Given the description of an element on the screen output the (x, y) to click on. 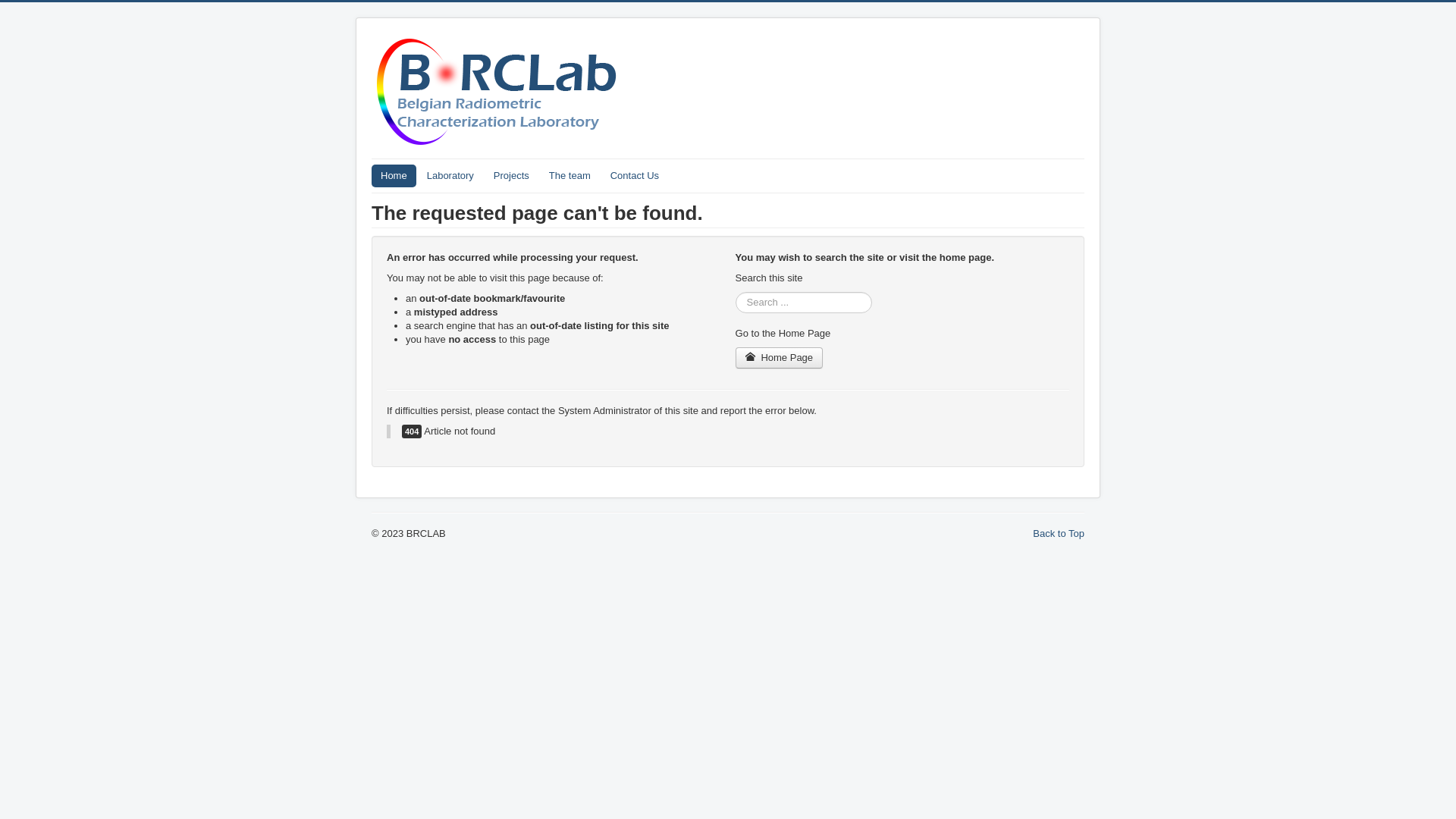
Laboratory Element type: text (450, 175)
The team Element type: text (569, 175)
Back to Top Element type: text (1058, 533)
Home Page Element type: text (779, 357)
Projects Element type: text (511, 175)
Home Element type: text (393, 175)
Contact Us Element type: text (634, 175)
